Given the description of an element on the screen output the (x, y) to click on. 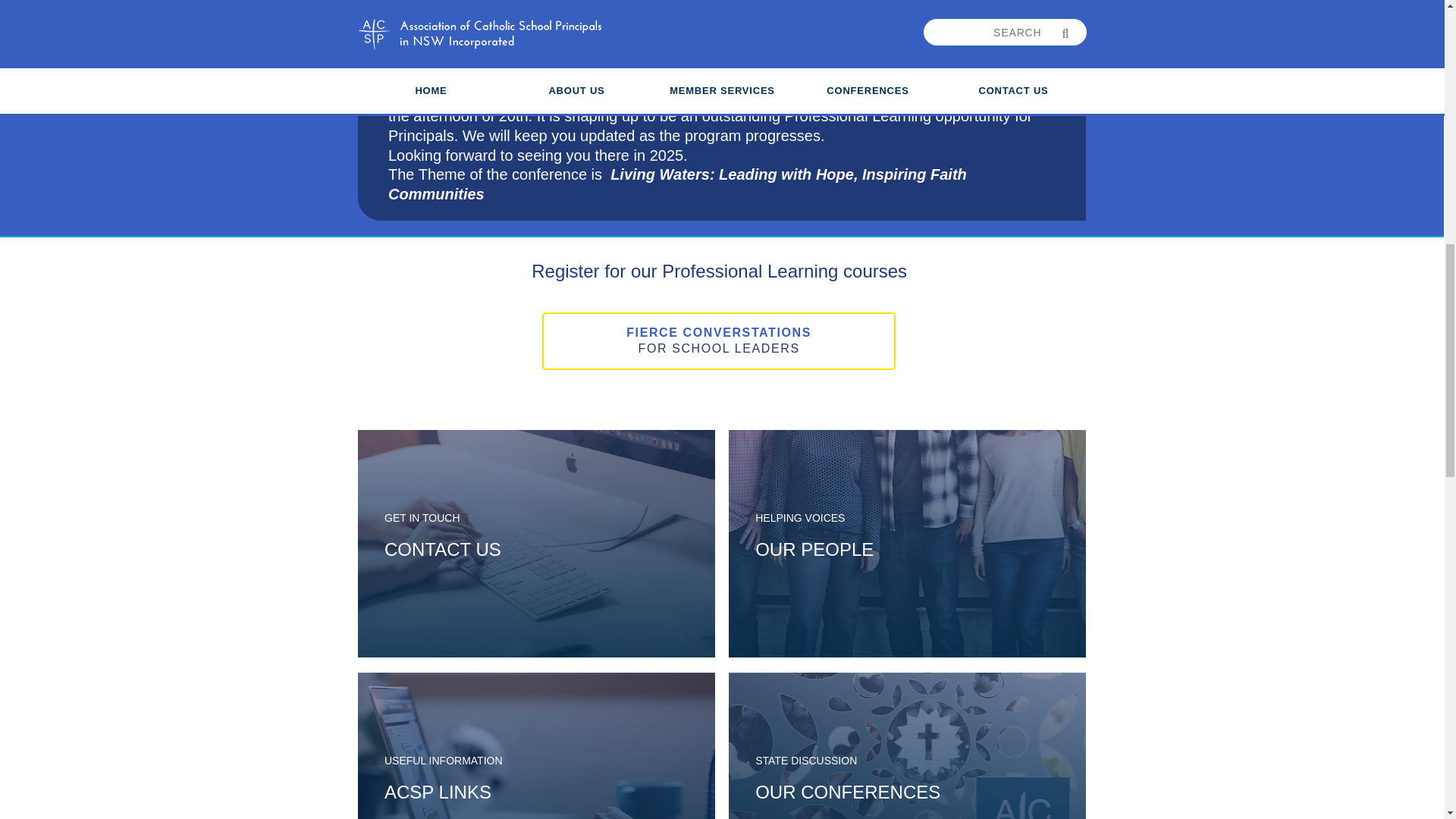
OUR CONFERENCES (847, 792)
ACSP LINKS (718, 341)
CONTACT US (438, 792)
OUR PEOPLE (442, 548)
